Given the description of an element on the screen output the (x, y) to click on. 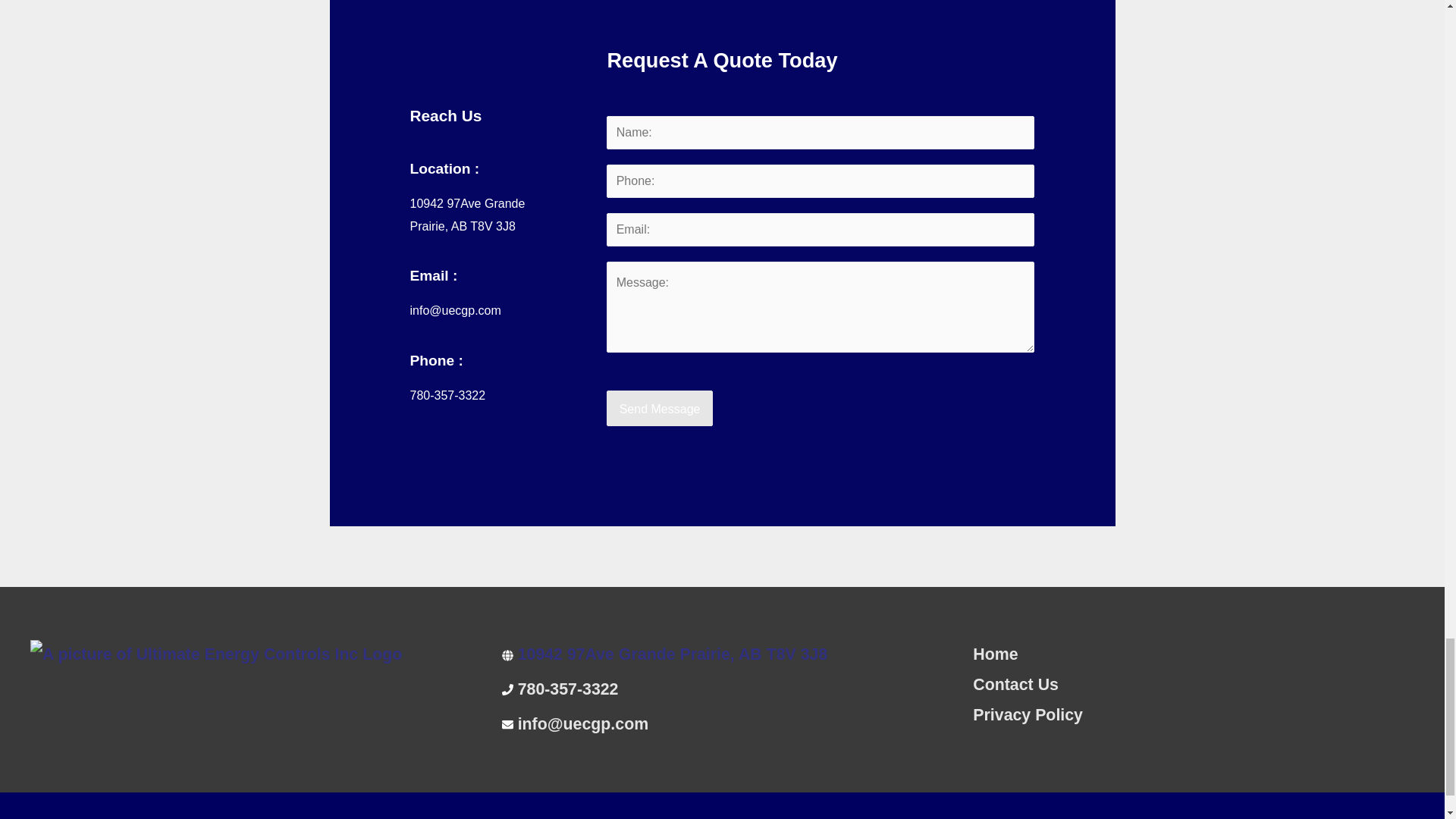
Privacy Policy (1027, 714)
Send Message (660, 408)
Home (994, 654)
Contact Us (1015, 684)
780-357-3322 (568, 689)
